Given the description of an element on the screen output the (x, y) to click on. 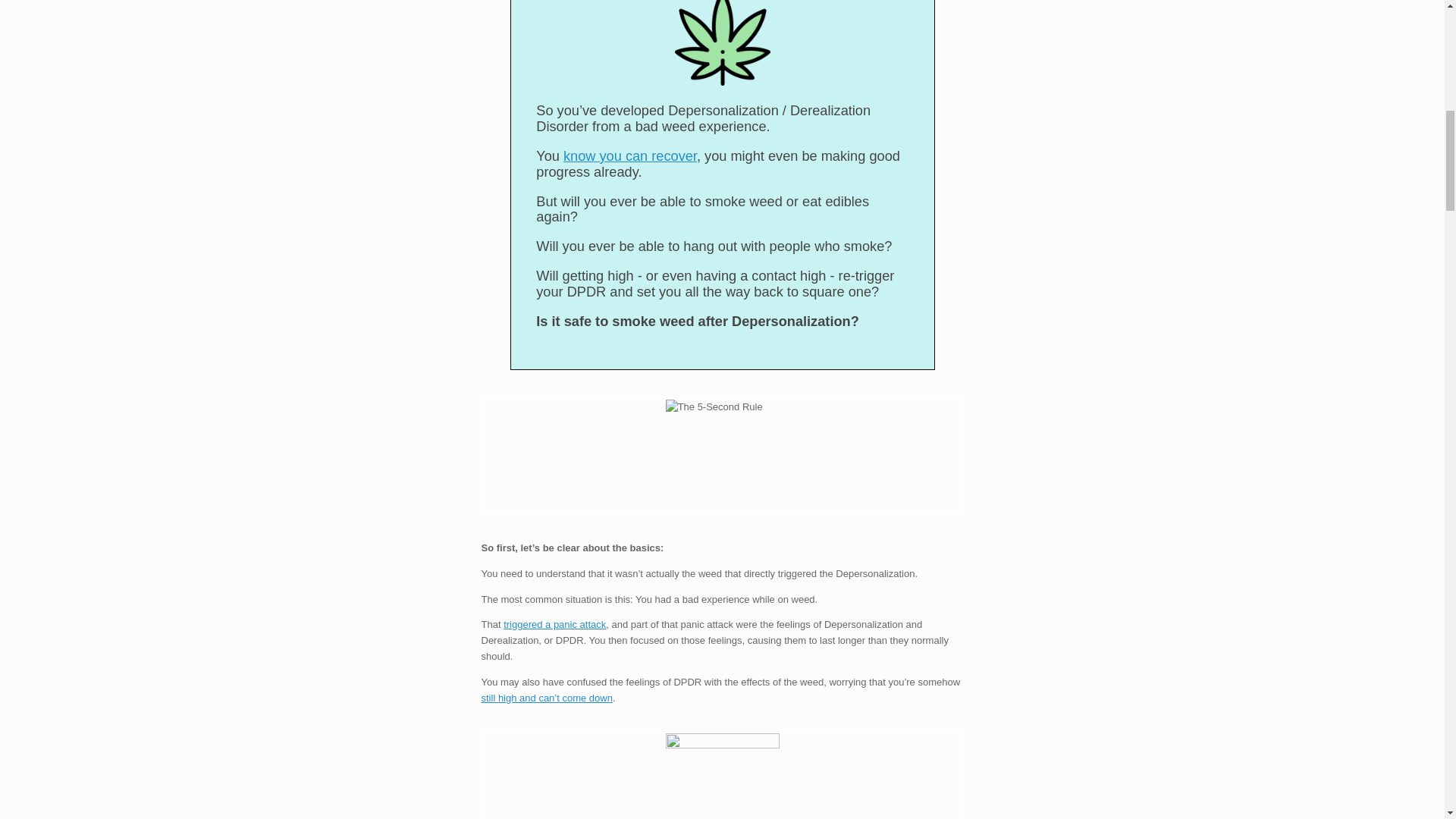
know you can recover (630, 155)
information Round (721, 456)
triggered a panic attack (554, 624)
